Given the description of an element on the screen output the (x, y) to click on. 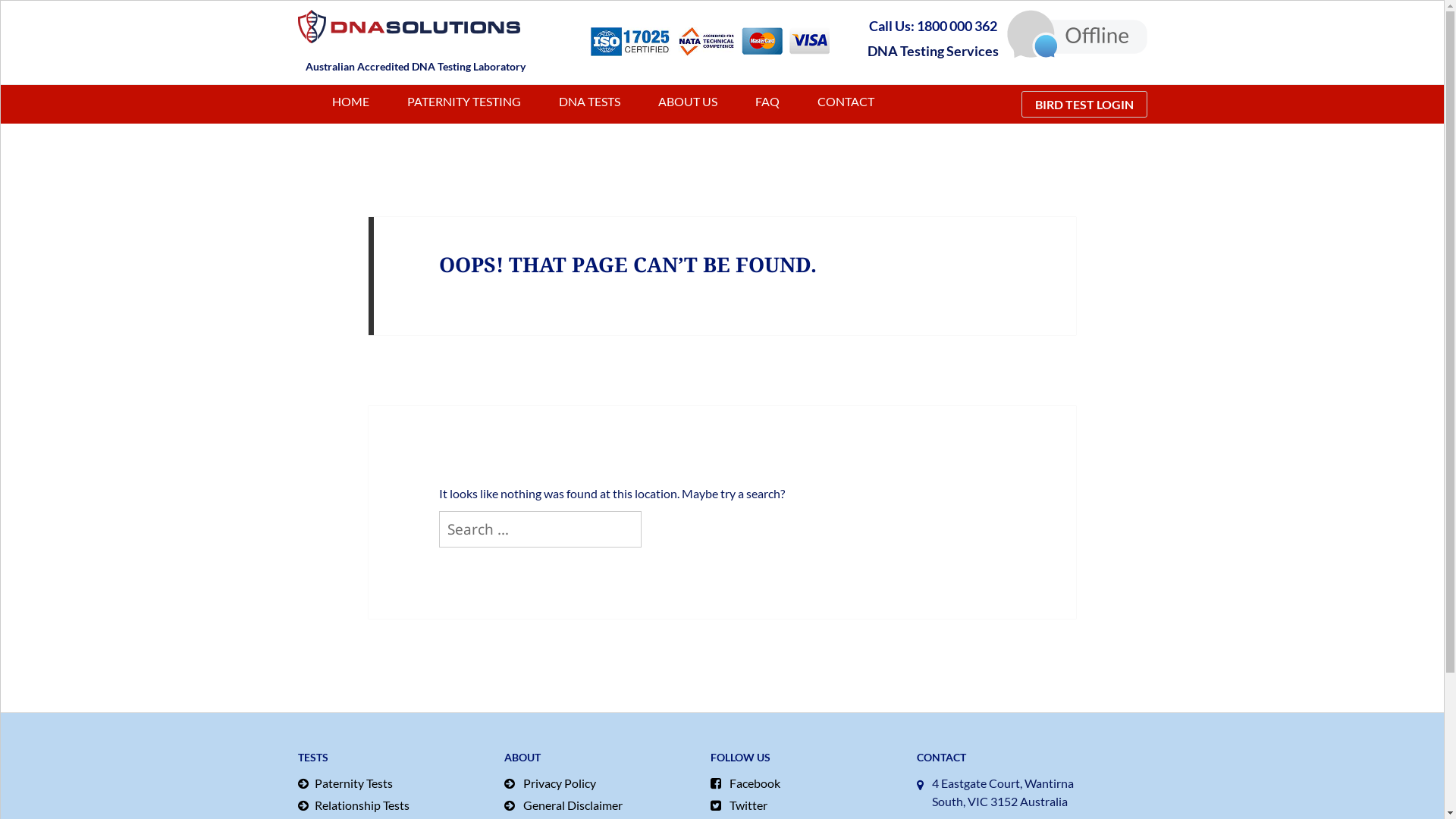
Call Us: 1800 000 362 Element type: text (933, 25)
ABOUT US Element type: text (687, 101)
General Disclaimer Element type: text (598, 805)
Twitter Element type: text (804, 805)
FAQ Element type: text (767, 101)
Facebook Element type: text (804, 783)
BIRD TEST LOGIN Element type: text (1083, 104)
PATERNITY TESTING Element type: text (463, 101)
DNA TESTS Element type: text (588, 101)
Paternity Tests Element type: text (392, 783)
BIRD TEST LOGIN Element type: text (1076, 104)
Relationship Tests Element type: text (392, 805)
HOME Element type: text (350, 101)
CONTACT Element type: text (845, 101)
Privacy Policy Element type: text (598, 783)
Search Element type: text (641, 510)
